Given the description of an element on the screen output the (x, y) to click on. 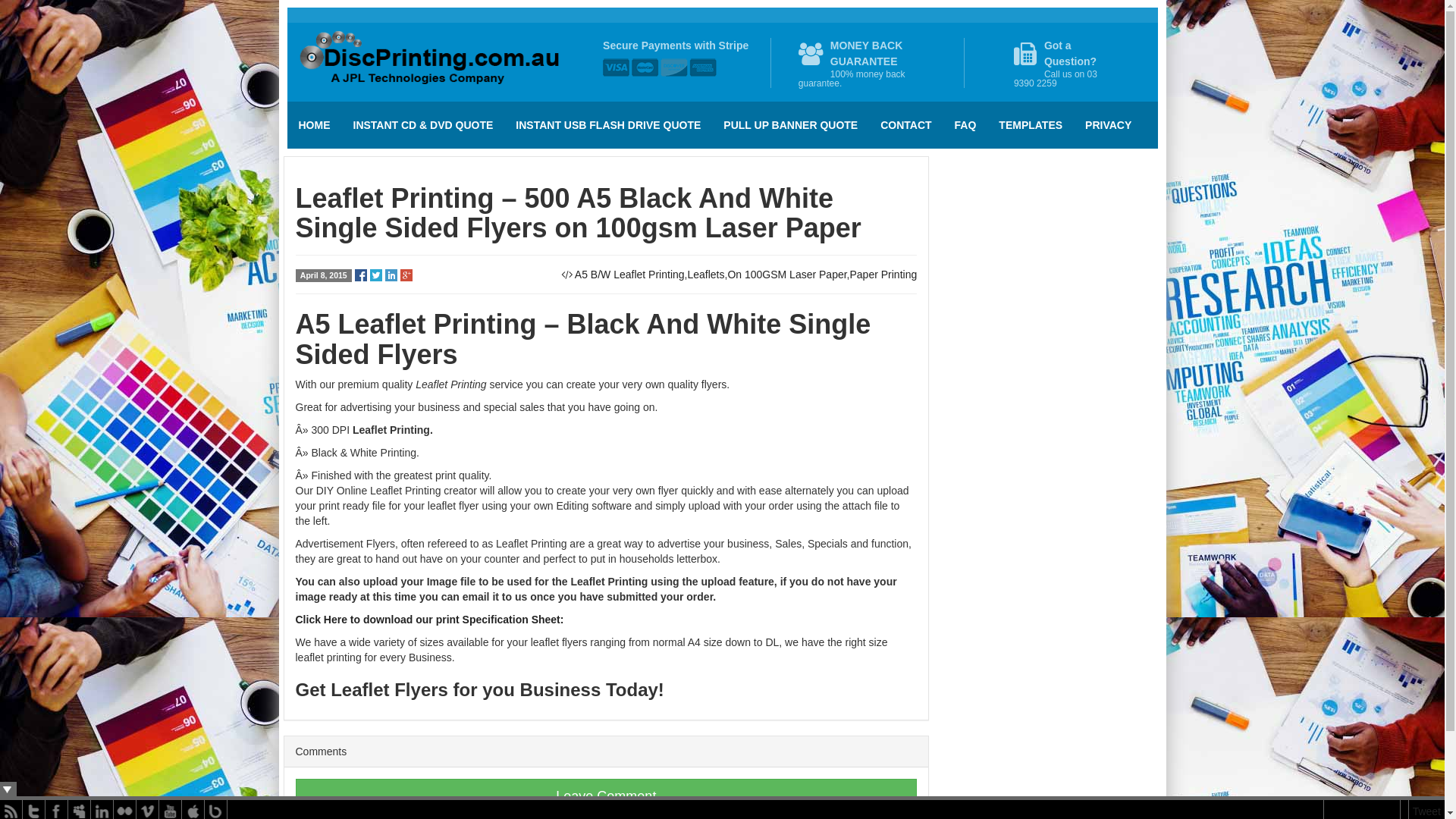
Paper Printing Element type: text (882, 274)
PRIVACY Element type: text (1107, 124)
Tweet Element type: text (1426, 811)
TEMPLATES Element type: text (1030, 124)
HOME Element type: text (313, 124)
Leaflets Element type: text (705, 274)
INSTANT CD & DVD QUOTE Element type: text (422, 124)
On 100GSM Laser Paper Element type: text (786, 274)
FAQ Element type: text (965, 124)
Click Here to download our print Specification Sheet: Element type: text (429, 619)
A5 B/W Leaflet Printing Element type: text (629, 274)
Leave Comment Element type: text (606, 795)
PULL UP BANNER QUOTE Element type: text (790, 124)
INSTANT USB FLASH DRIVE QUOTE Element type: text (608, 124)
Disc Printing & Duplication Element type: hover (432, 62)
CONTACT Element type: text (905, 124)
